Given the description of an element on the screen output the (x, y) to click on. 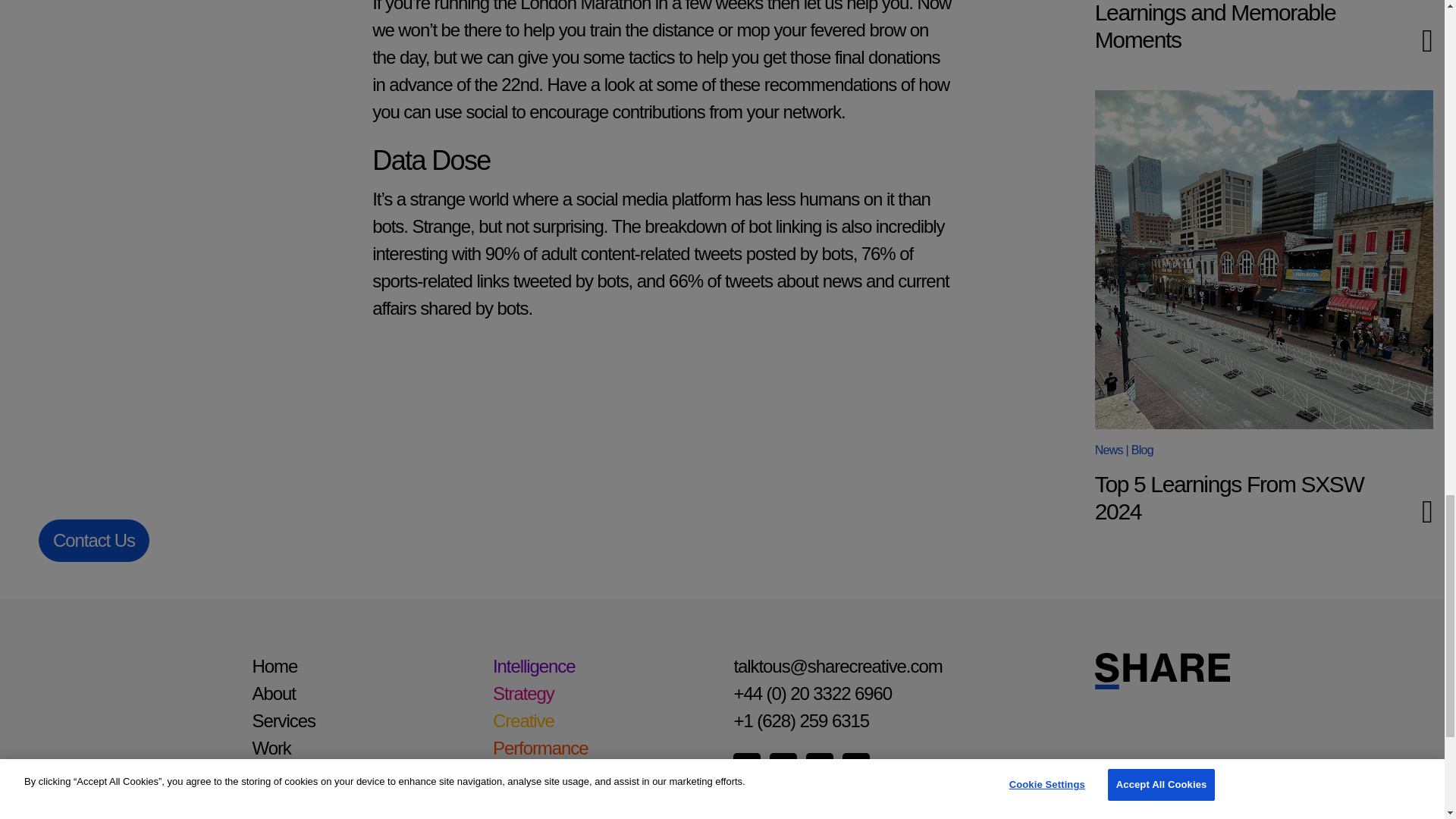
Cannes Lions 2024: Key Learnings and Memorable Moments (1215, 26)
Cannes Lions 2024: Key Learnings and Memorable Moments (1215, 26)
Top 5 Learnings From SXSW 2024 (1263, 259)
Top 5 Learnings From SXSW 2024 (1229, 497)
Top 5 Learnings From SXSW 2024 (1229, 497)
News (1108, 449)
SHARE Creative (1263, 670)
Blog (1142, 449)
